Given the description of an element on the screen output the (x, y) to click on. 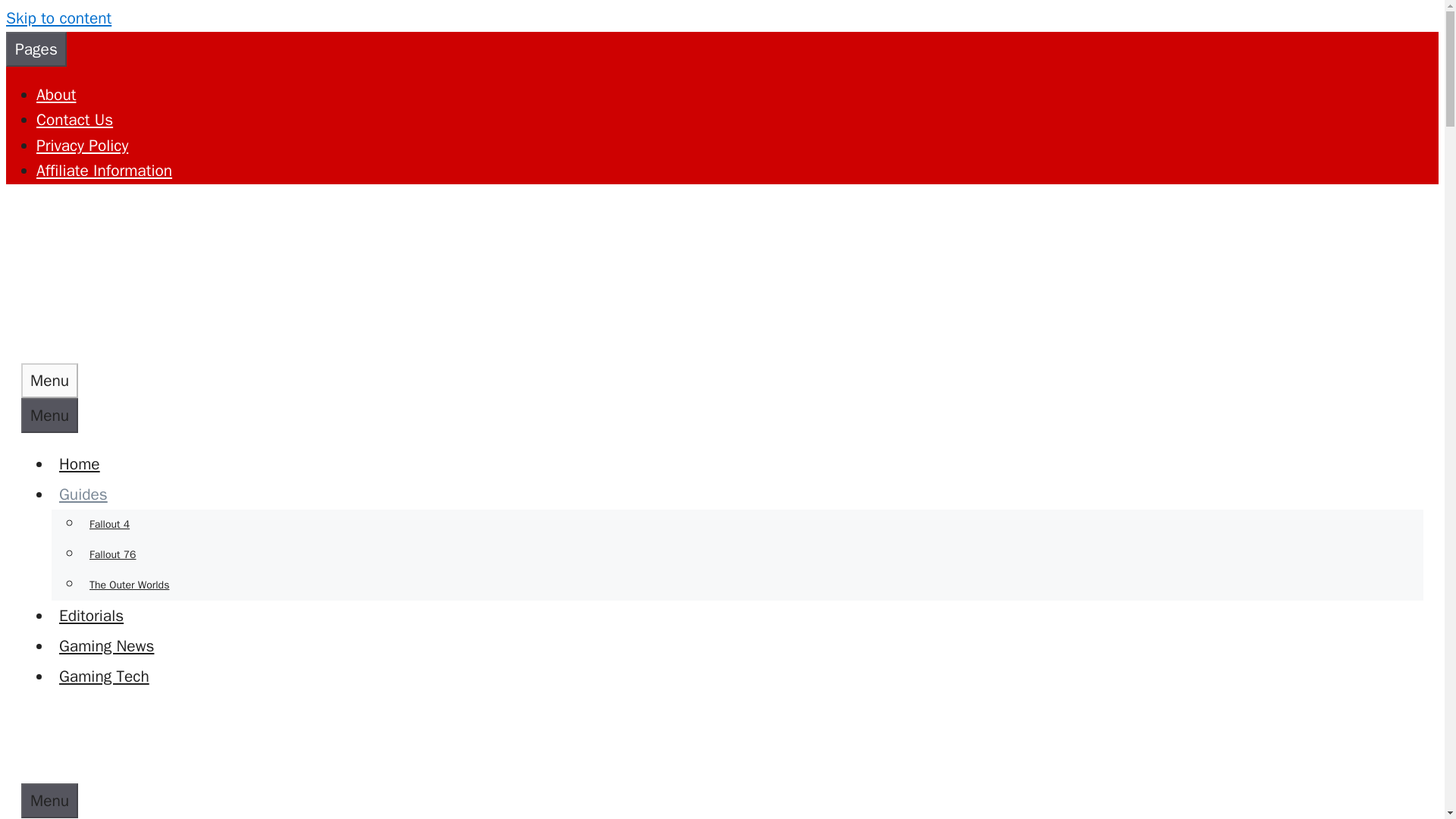
Menu (49, 800)
Skip to content (58, 17)
The Outer Worlds (128, 584)
Fallout 76 (112, 554)
Fallout 4 (108, 524)
Skip to content (58, 17)
Menu (49, 380)
Guides (86, 494)
Common Sense Gamer (48, 770)
Editorials (90, 615)
